Given the description of an element on the screen output the (x, y) to click on. 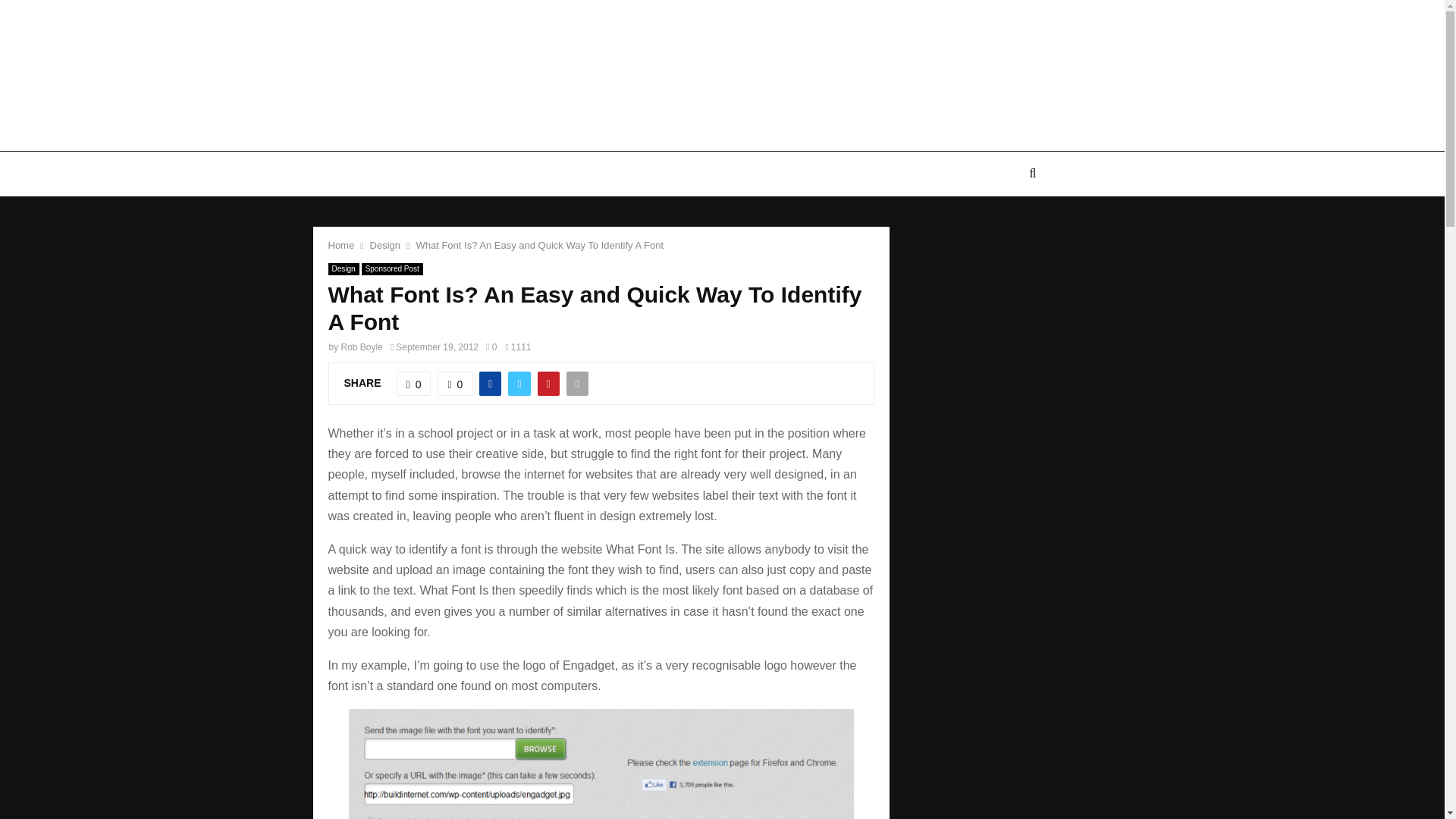
GAMING (804, 173)
TECHNOLOGY (505, 173)
REVIEWS (598, 173)
RETRO COMPUTING (702, 173)
